Given the description of an element on the screen output the (x, y) to click on. 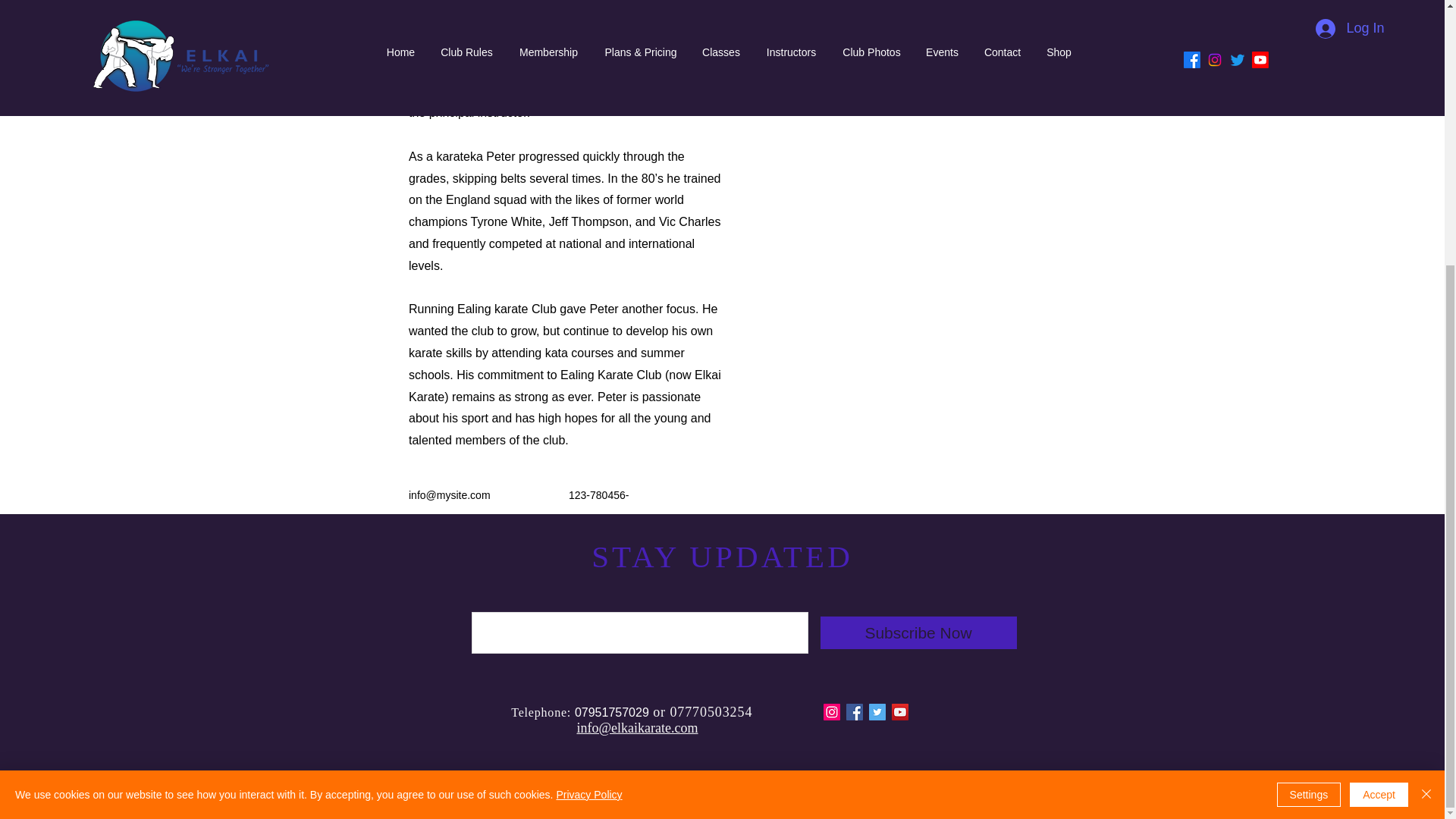
Settings (1308, 410)
Privacy Policy (588, 410)
.com (684, 727)
Accept (1378, 410)
Subscribe Now (918, 632)
PeterHarrisNew.jpg (1002, 47)
